Given the description of an element on the screen output the (x, y) to click on. 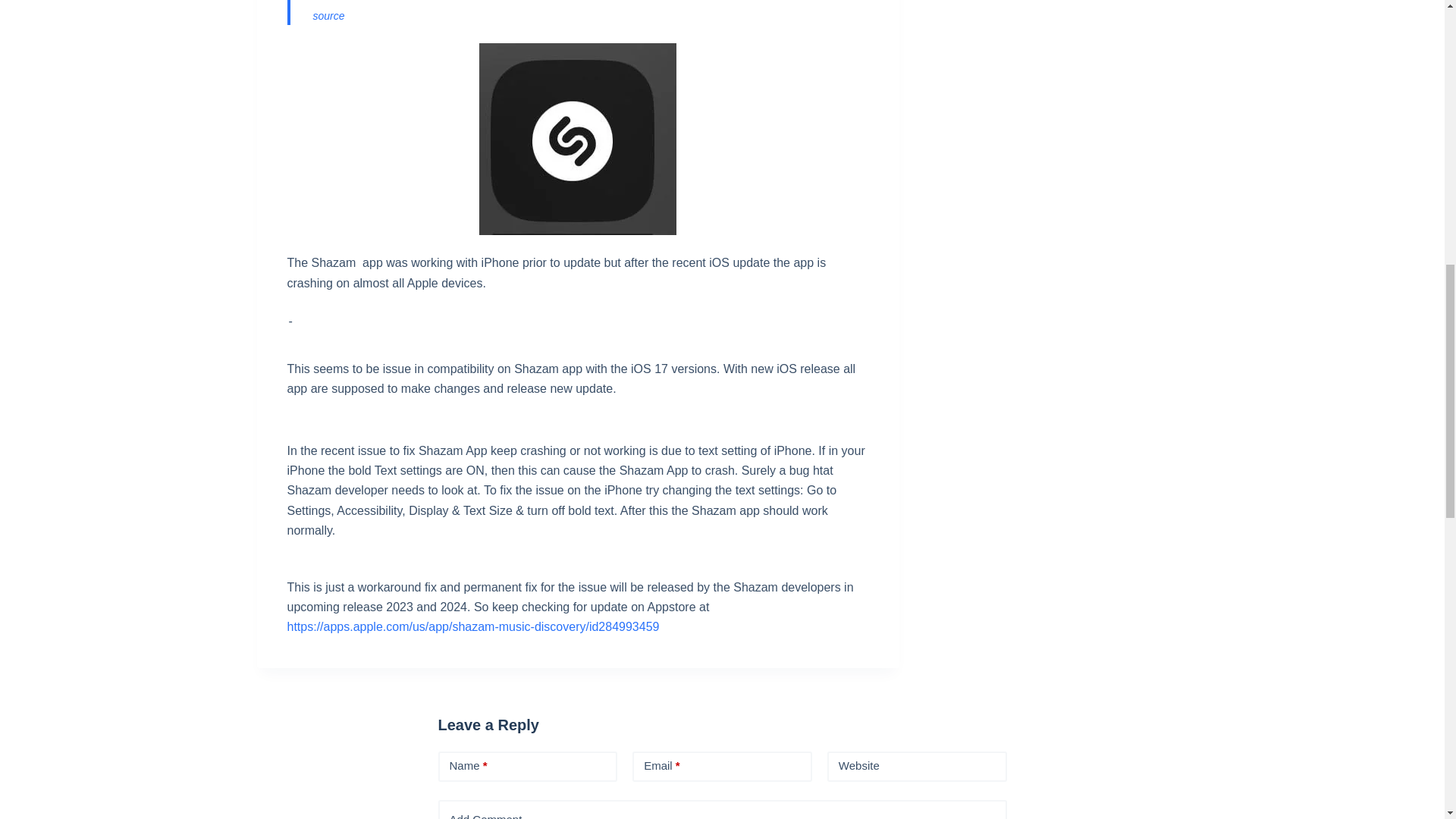
source (328, 15)
